Given the description of an element on the screen output the (x, y) to click on. 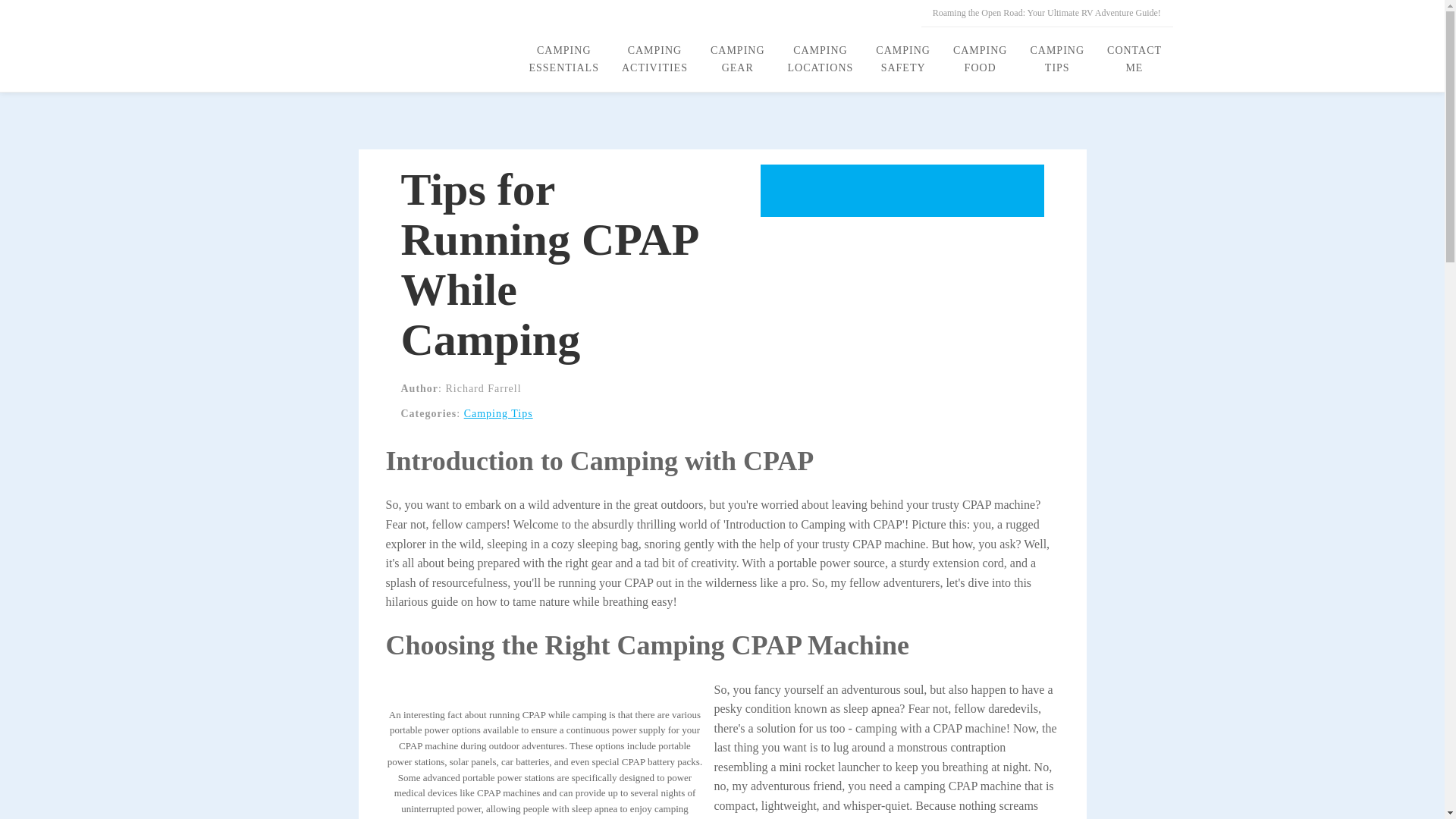
CAMPING ESSENTIALS (563, 59)
Camping Tips (498, 413)
CAMPING FOOD (980, 59)
CAMPING TIPS (1056, 59)
CAMPING SAFETY (903, 59)
CAMPING GEAR (737, 59)
CONTACT ME (1134, 59)
CAMPING ACTIVITIES (654, 59)
CAMPING LOCATIONS (820, 59)
